Given the description of an element on the screen output the (x, y) to click on. 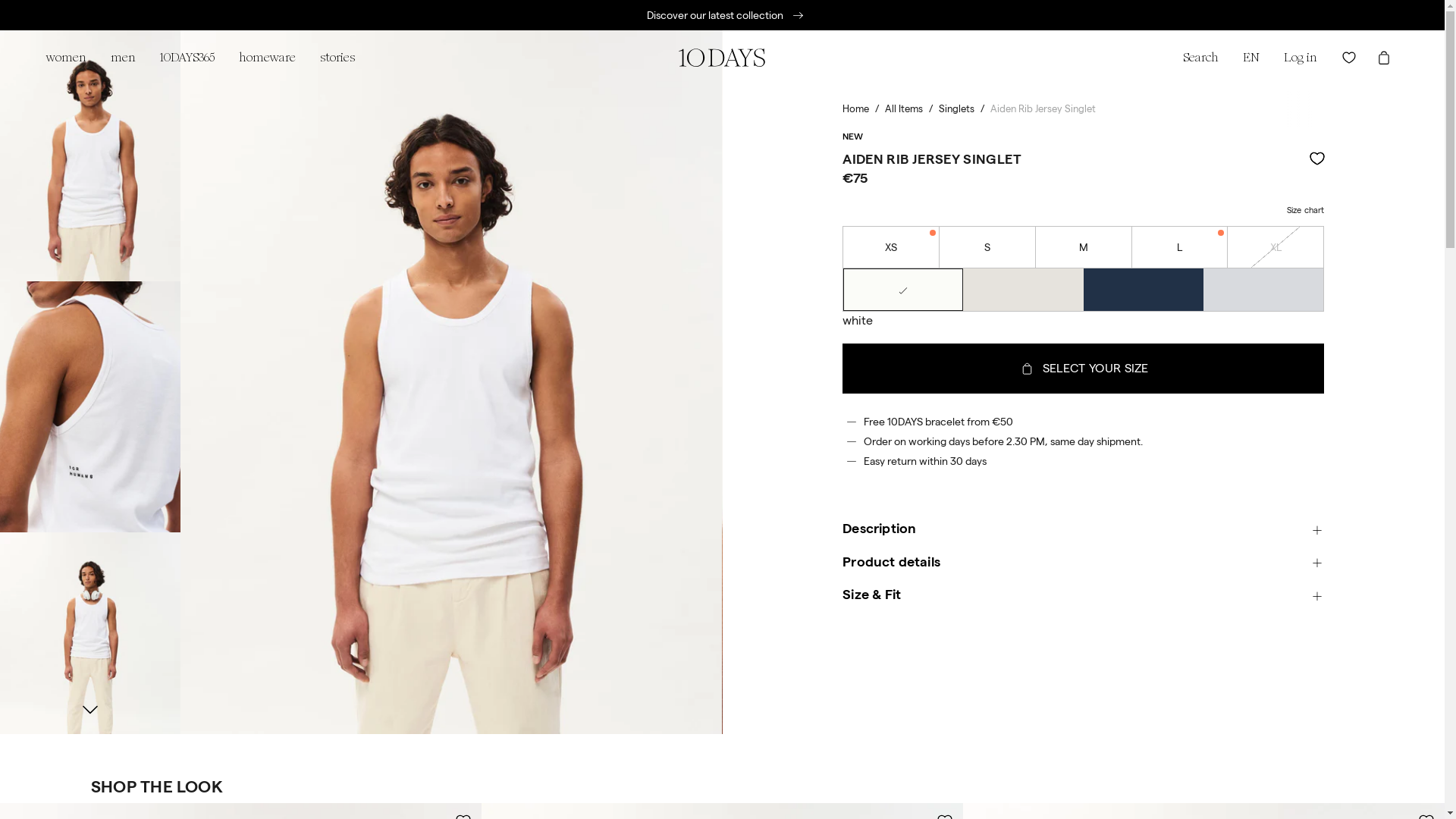
Description Element type: text (1083, 529)
10DAYS | Official Online Store Element type: hover (721, 57)
stories Element type: text (337, 57)
Open cart drawer Element type: text (1383, 57)
Singlets
/ Element type: text (956, 109)
10DAYS365 Element type: text (186, 57)
Product details Element type: text (1083, 562)
SKIP TO CONTENT Element type: text (0, 0)
Aiden rib jersey singlet | light grey melee Element type: hover (1263, 289)
SELECT YOUR SIZE Element type: text (1083, 368)
men Element type: text (122, 57)
women Element type: text (71, 57)
Size & Fit Element type: text (1083, 595)
white Element type: text (902, 289)
Aiden rib jersey singlet | soft white melee Element type: hover (1023, 289)
EN Element type: text (1250, 57)
Aiden rib jersey singlet | dark blue Element type: hover (1142, 289)
All Items
/ Element type: text (903, 109)
Home
/ Element type: text (855, 109)
Discover our latest collection Element type: text (714, 14)
homeware Element type: text (266, 57)
Log in Element type: text (1300, 57)
